Given the description of an element on the screen output the (x, y) to click on. 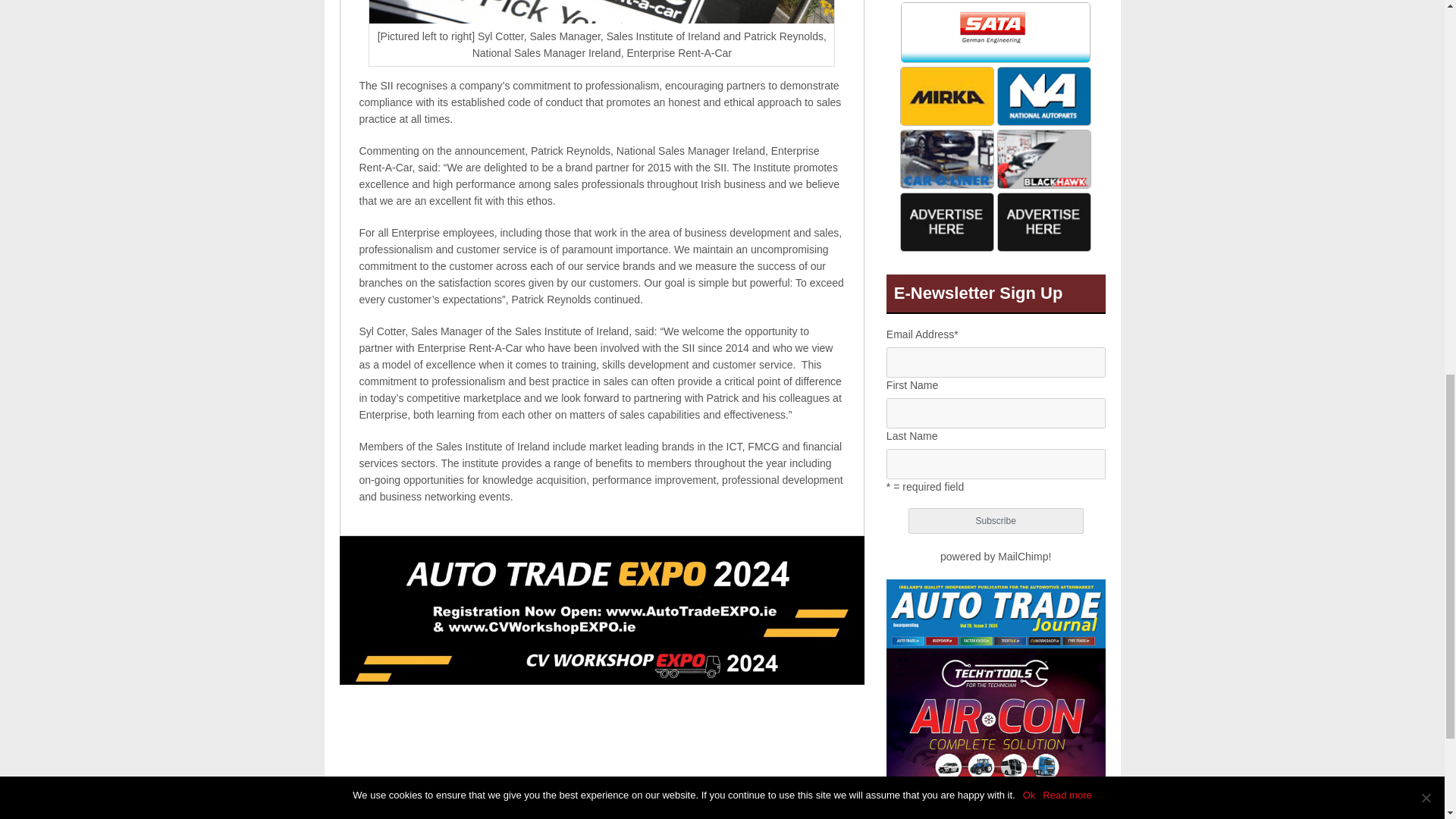
Subscribe (995, 520)
